Given the description of an element on the screen output the (x, y) to click on. 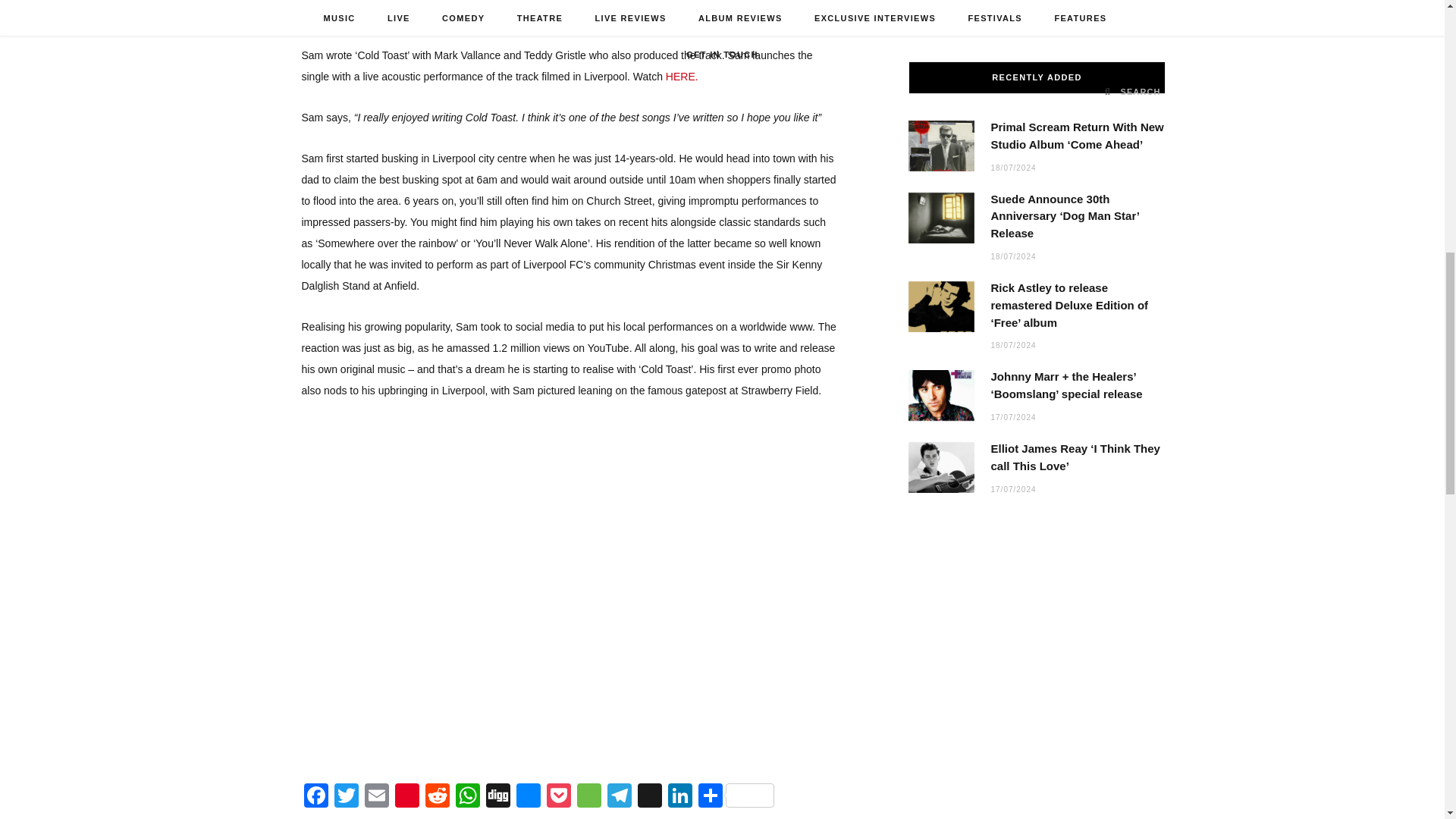
Twitter (346, 796)
Snapchat (649, 796)
Digg (498, 796)
Pinterest (406, 796)
HERE. (681, 76)
Message (588, 796)
WhatsApp (467, 796)
Pocket (558, 796)
Email (376, 796)
Pinterest (406, 796)
Message (588, 796)
LinkedIn (680, 796)
Facebook (316, 796)
Reddit (437, 796)
Digg (498, 796)
